Given the description of an element on the screen output the (x, y) to click on. 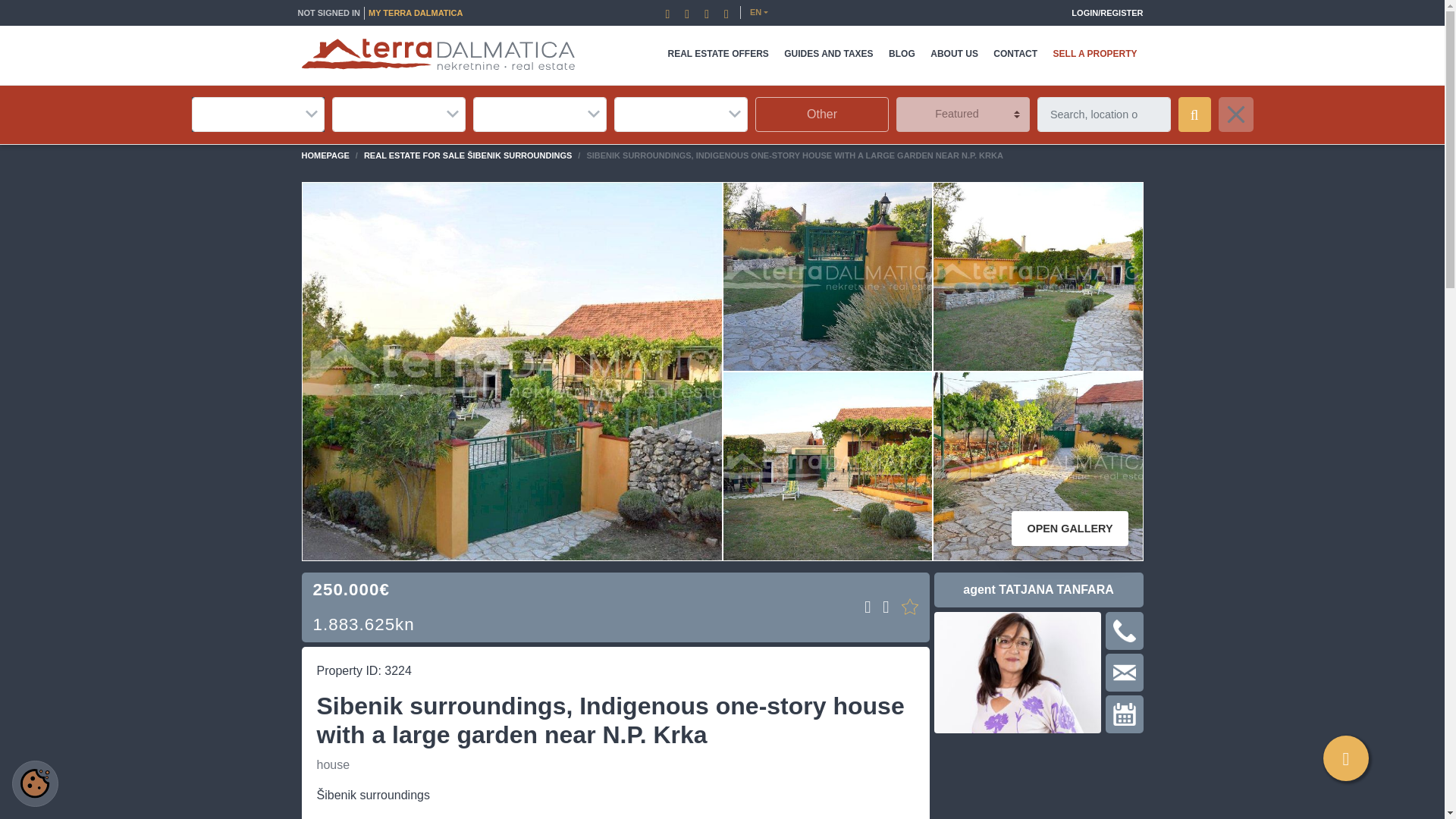
EN (759, 11)
REAL ESTATE OFFERS (717, 55)
MY TERRA DALMATICA (415, 12)
